Given the description of an element on the screen output the (x, y) to click on. 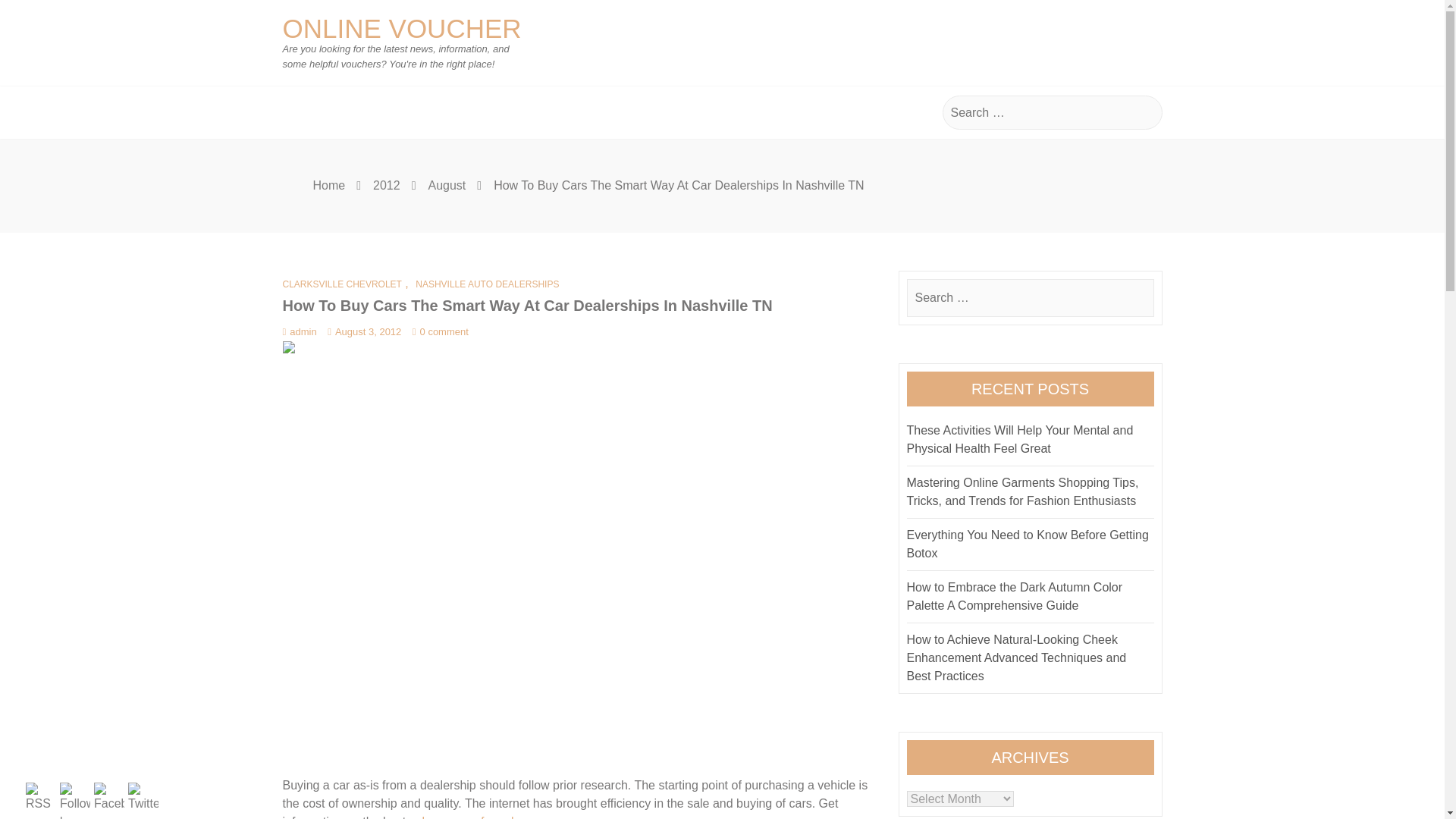
Search (1148, 112)
August (446, 185)
salvage cars for sale (465, 816)
Search (1139, 299)
Everything You Need to Know Before Getting Botox (1027, 543)
August 3, 2012 (364, 331)
Search (1139, 299)
NASHVILLE AUTO DEALERSHIPS (485, 284)
